Given the description of an element on the screen output the (x, y) to click on. 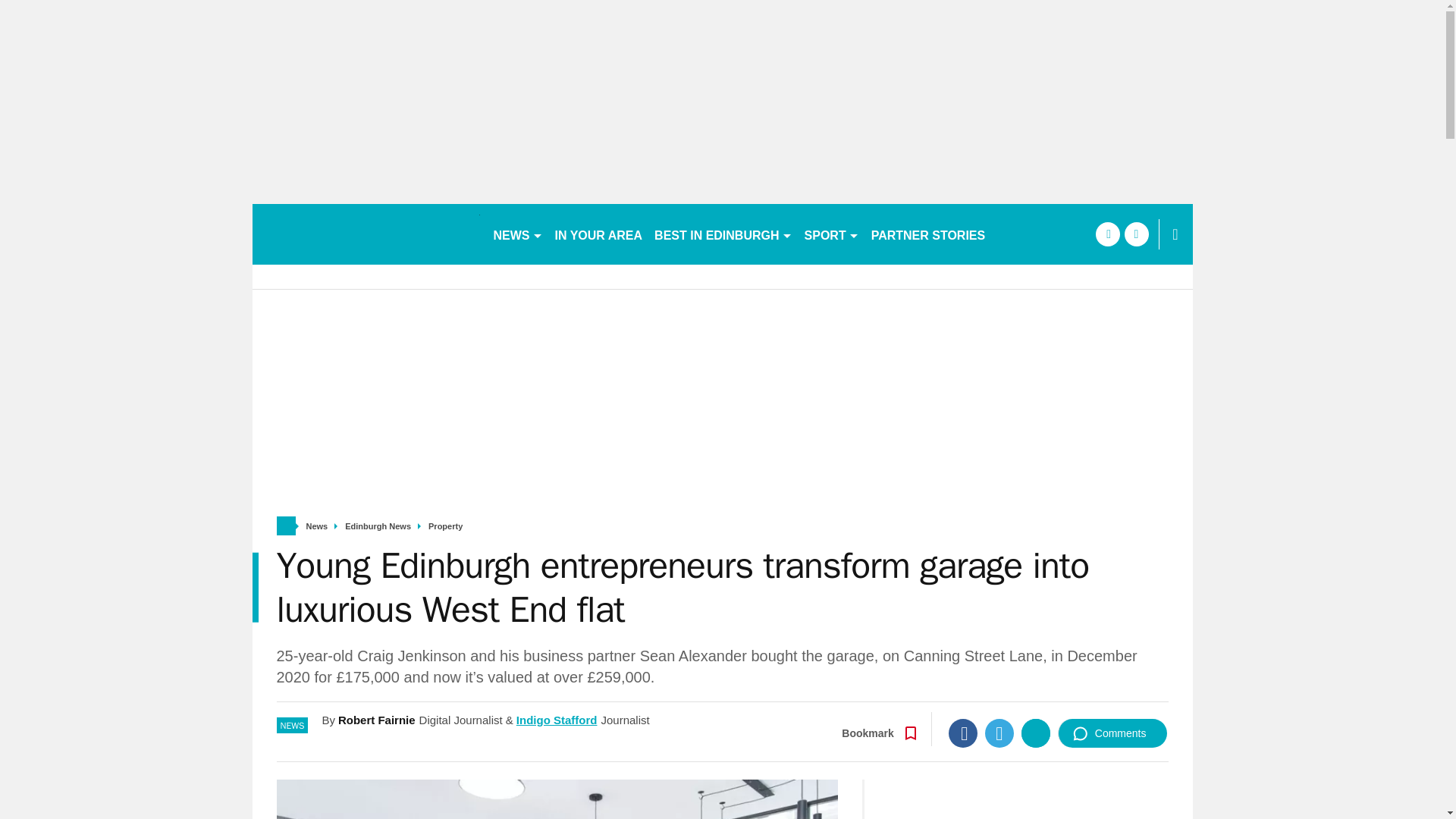
edinburghlive (365, 233)
BEST IN EDINBURGH (722, 233)
PARTNER STORIES (927, 233)
NEWS (517, 233)
SPORT (830, 233)
VOUCHER CODES (1056, 233)
Comments (1112, 733)
Twitter (999, 733)
Facebook (962, 733)
IN YOUR AREA (598, 233)
